Given the description of an element on the screen output the (x, y) to click on. 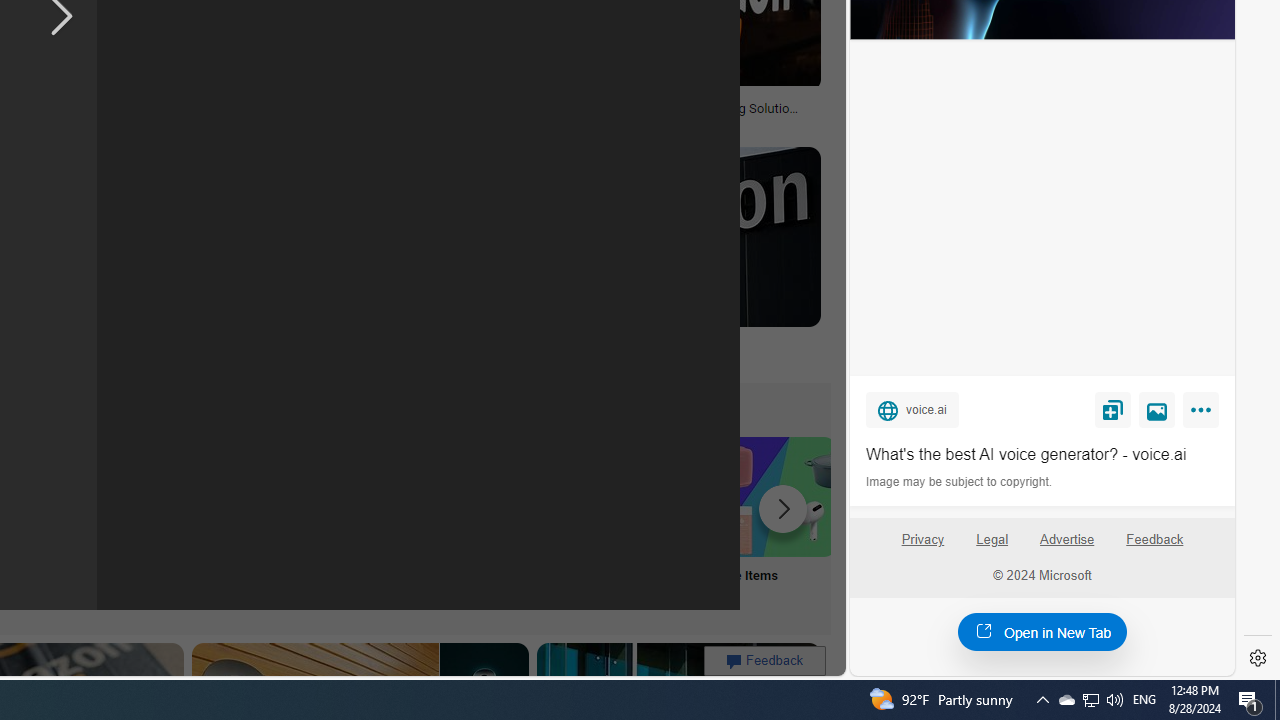
Legal (992, 547)
Amazon (662, 343)
Settings (1258, 658)
cordcuttersnews.com (234, 358)
Amazon Online Shopping Homepage (248, 496)
Amazon Visa Card Login (643, 496)
Sale Items (775, 521)
mobilemarketingmagazine.com (574, 121)
Image result for amazon (662, 236)
Amazon (536, 343)
Amazon Mini TV Mini TV (116, 521)
